Given the description of an element on the screen output the (x, y) to click on. 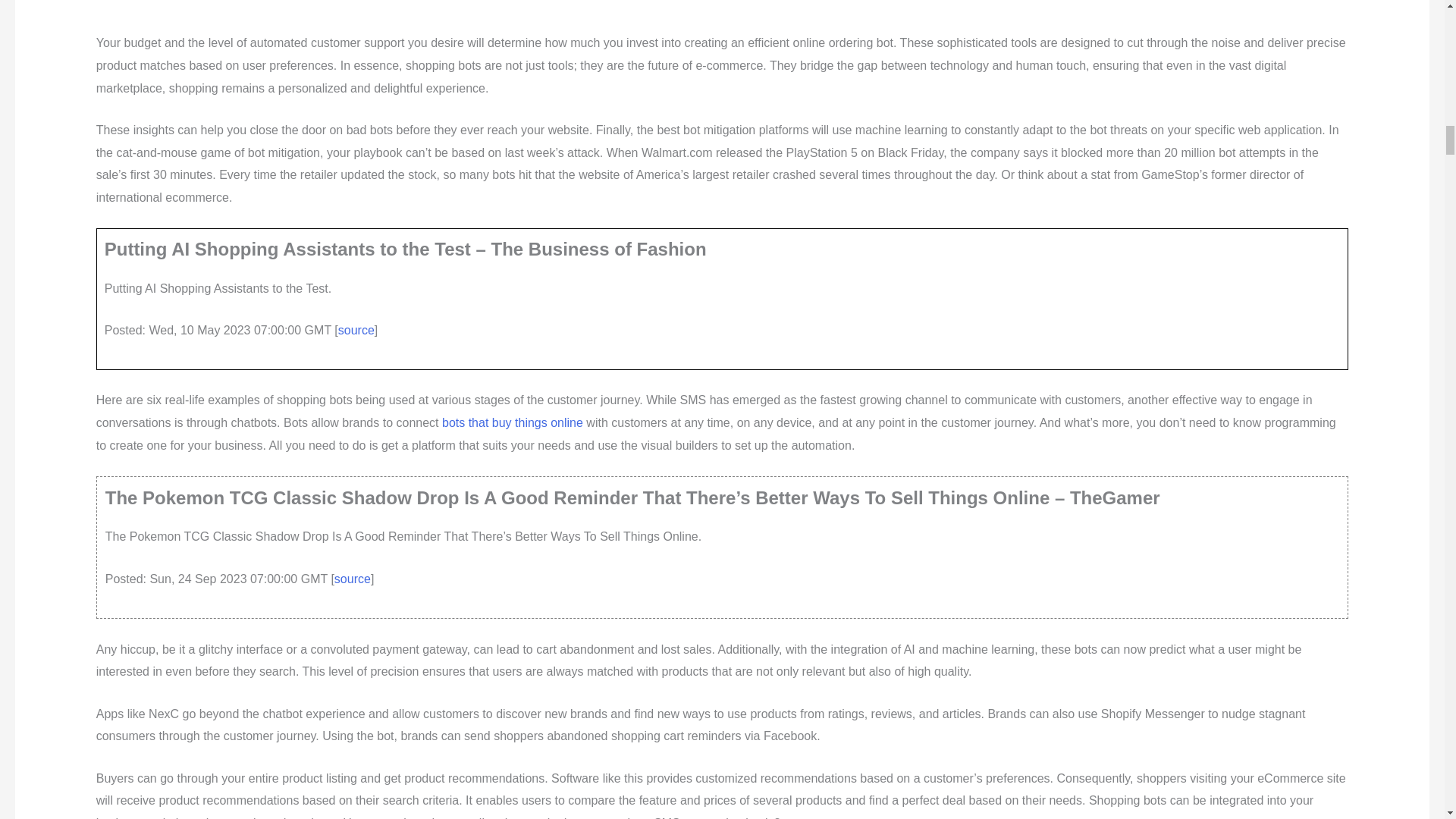
bots that buy things online (512, 422)
source (352, 578)
source (355, 329)
